Given the description of an element on the screen output the (x, y) to click on. 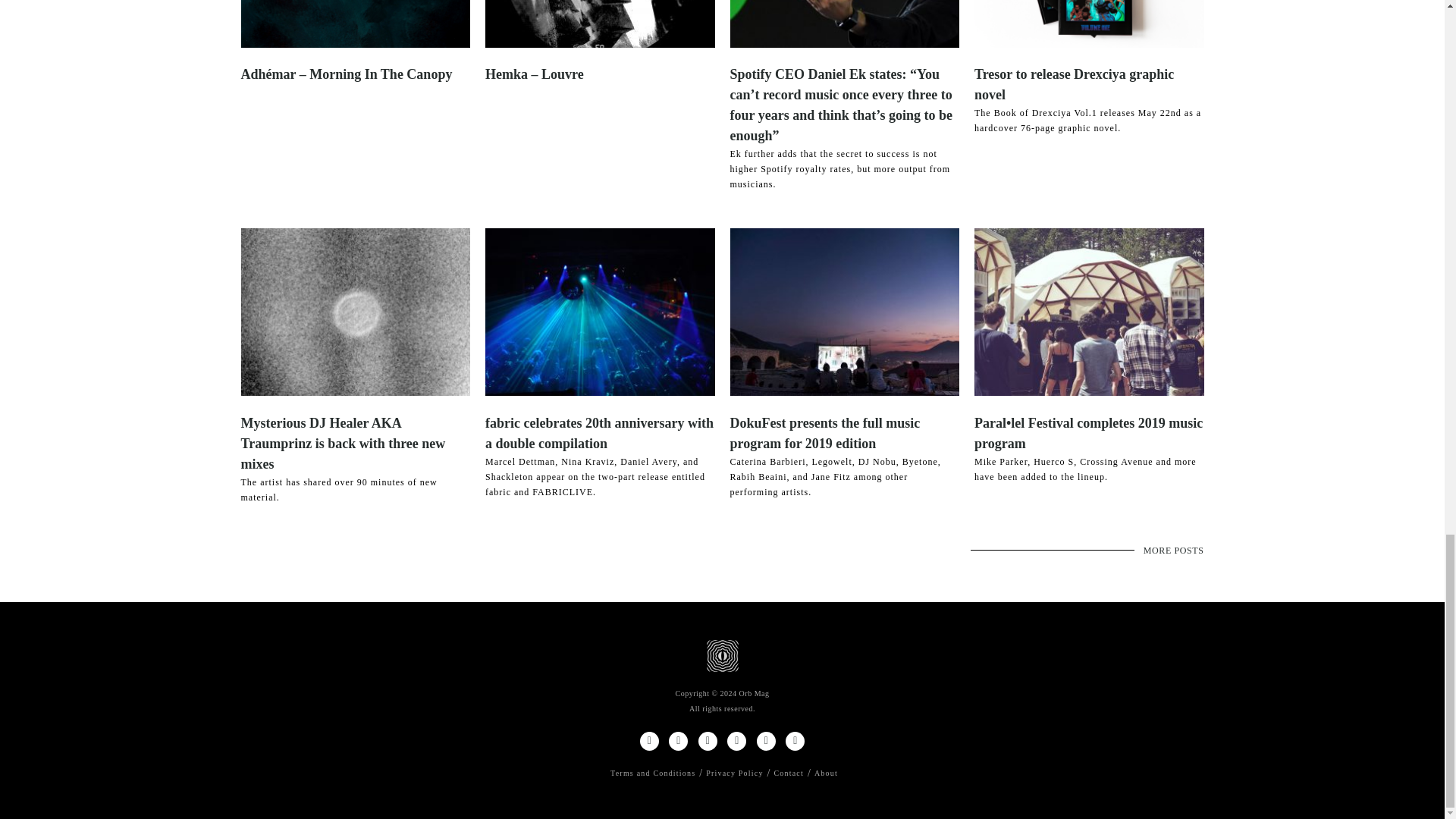
Tresor to release Drexciya graphic novel (1073, 84)
